Given the description of an element on the screen output the (x, y) to click on. 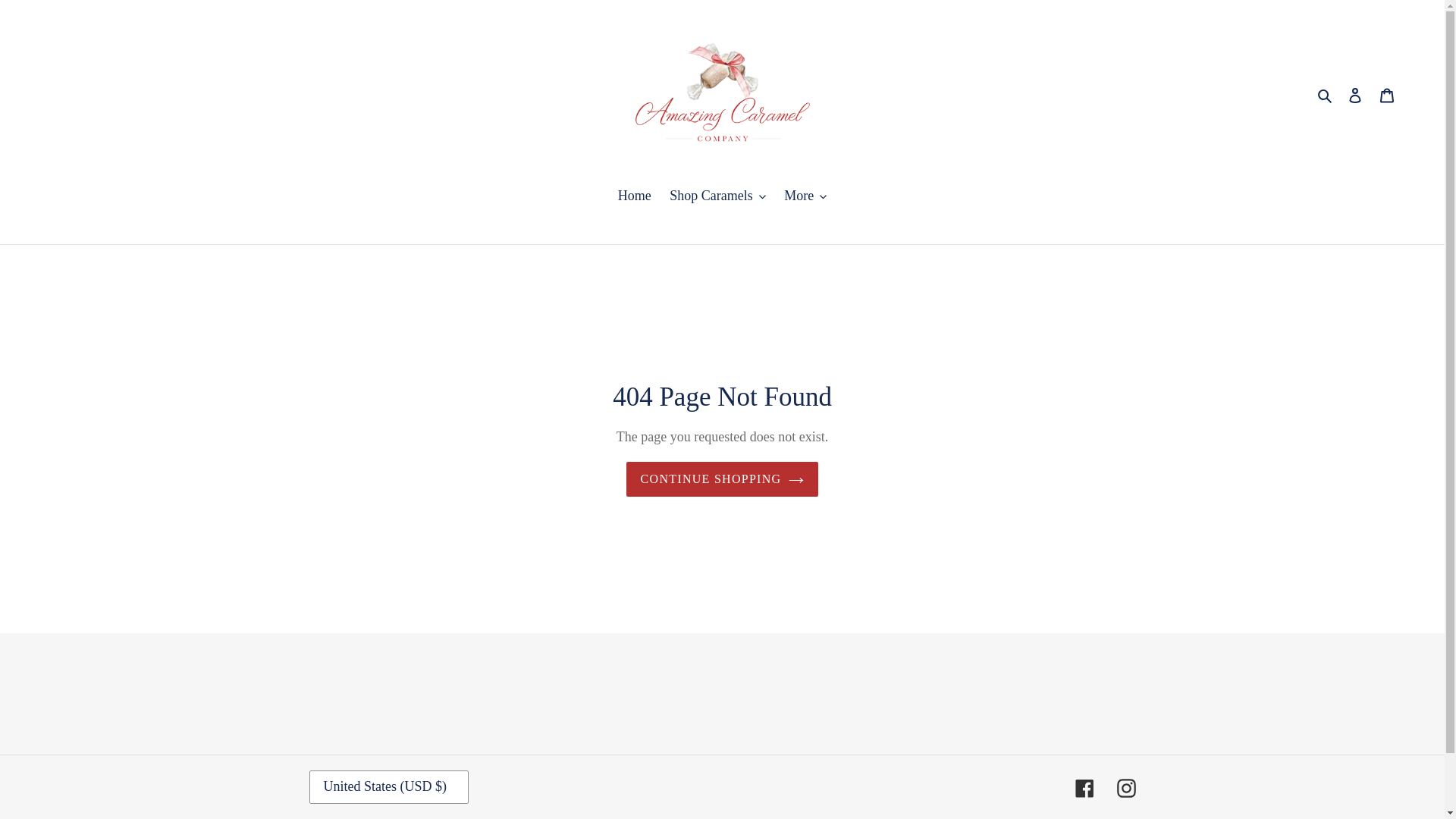
CONTINUE SHOPPING (722, 478)
Shop Caramels (717, 196)
Cart (1387, 94)
More (805, 196)
Home (634, 196)
Search (1326, 94)
Log in (1355, 94)
